Given the description of an element on the screen output the (x, y) to click on. 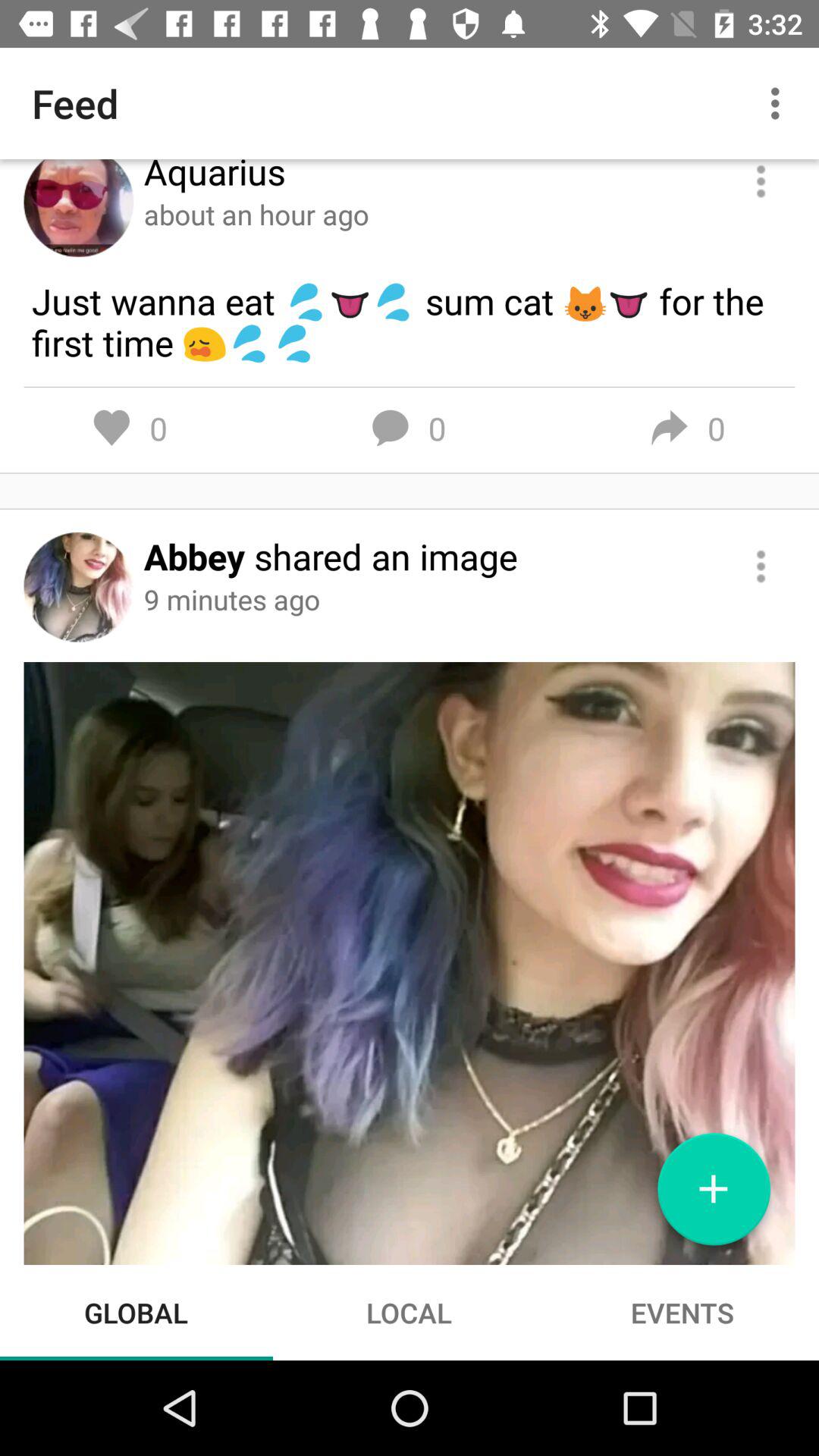
go to user profile (78, 208)
